Given the description of an element on the screen output the (x, y) to click on. 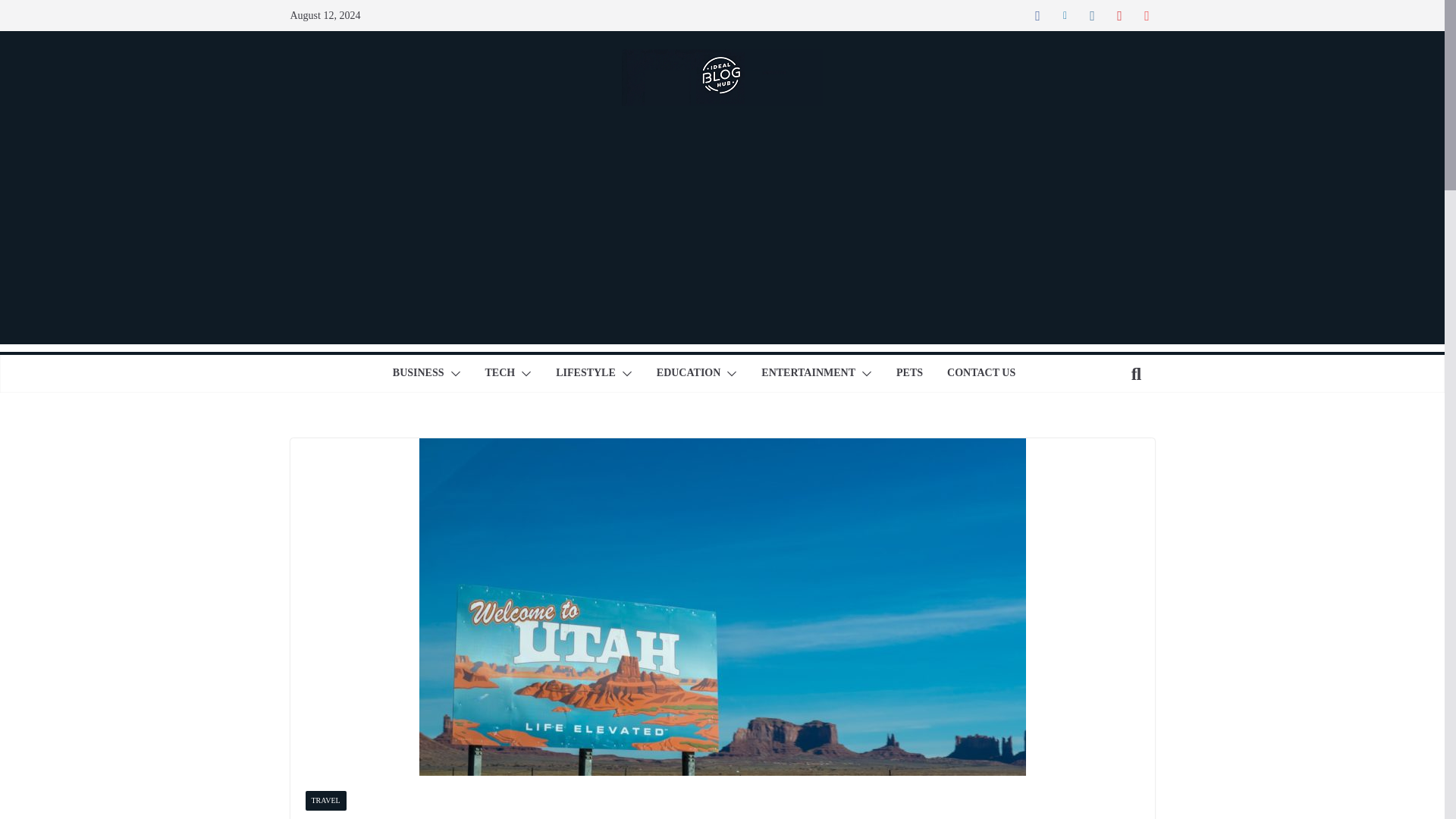
TECH (499, 373)
ENTERTAINMENT (808, 373)
EDUCATION (688, 373)
PETS (909, 373)
TRAVEL (325, 800)
BUSINESS (418, 373)
CONTACT US (980, 373)
LIFESTYLE (585, 373)
